Given the description of an element on the screen output the (x, y) to click on. 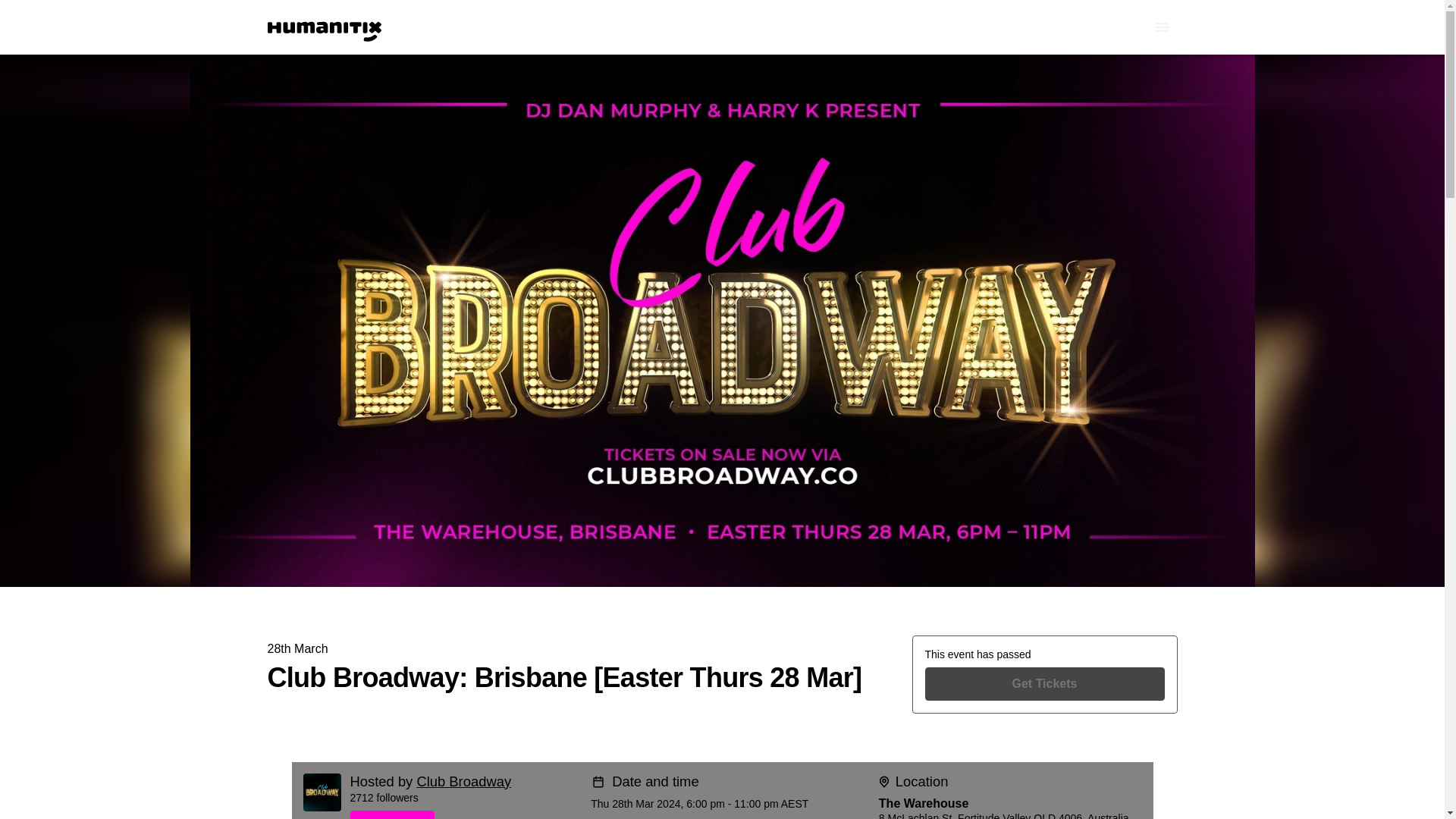
Follow (465, 814)
Club Broadway (463, 781)
Skip to Content (18, 18)
Get Tickets (1044, 684)
